Given the description of an element on the screen output the (x, y) to click on. 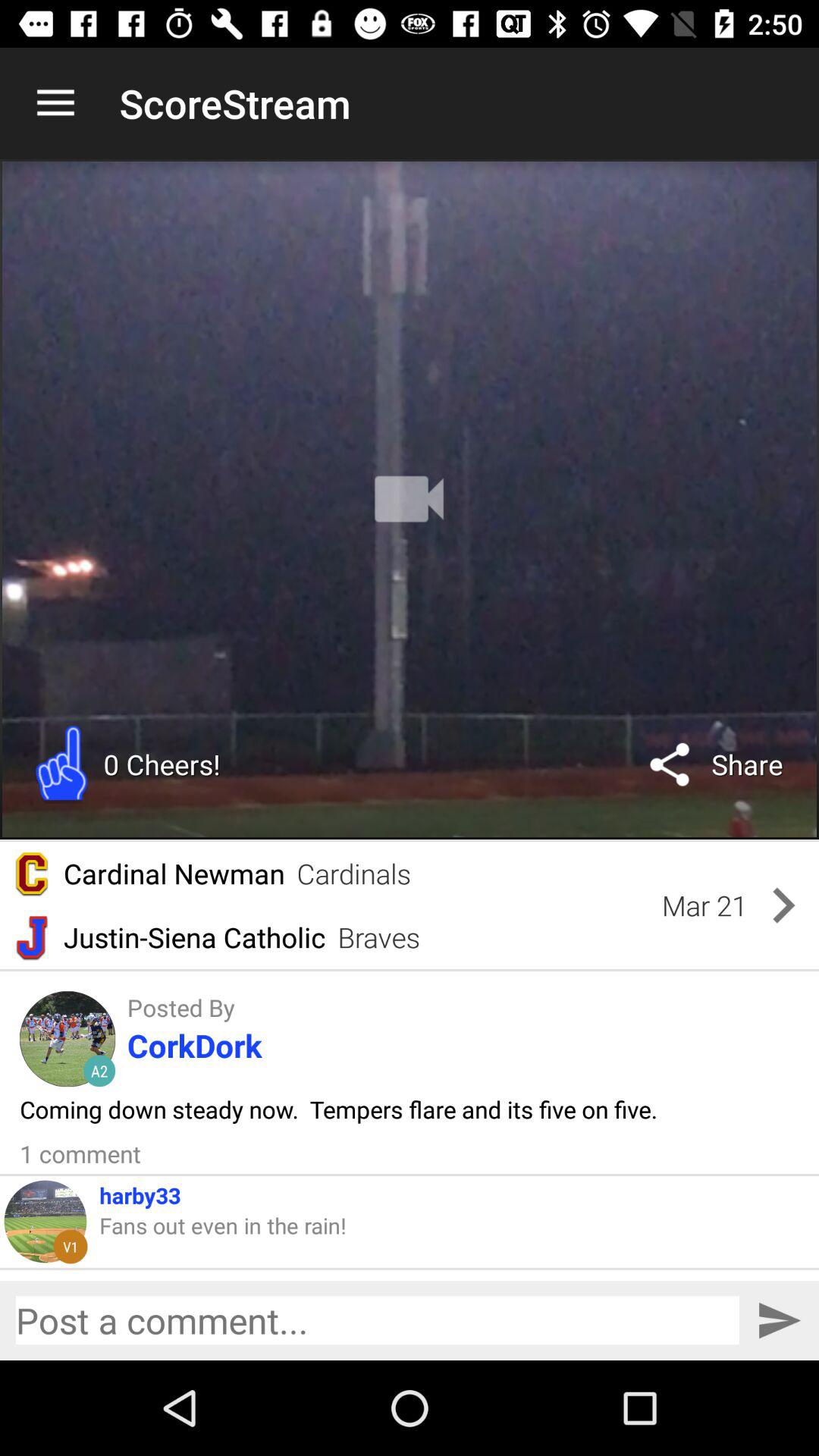
post a comment (377, 1320)
